Given the description of an element on the screen output the (x, y) to click on. 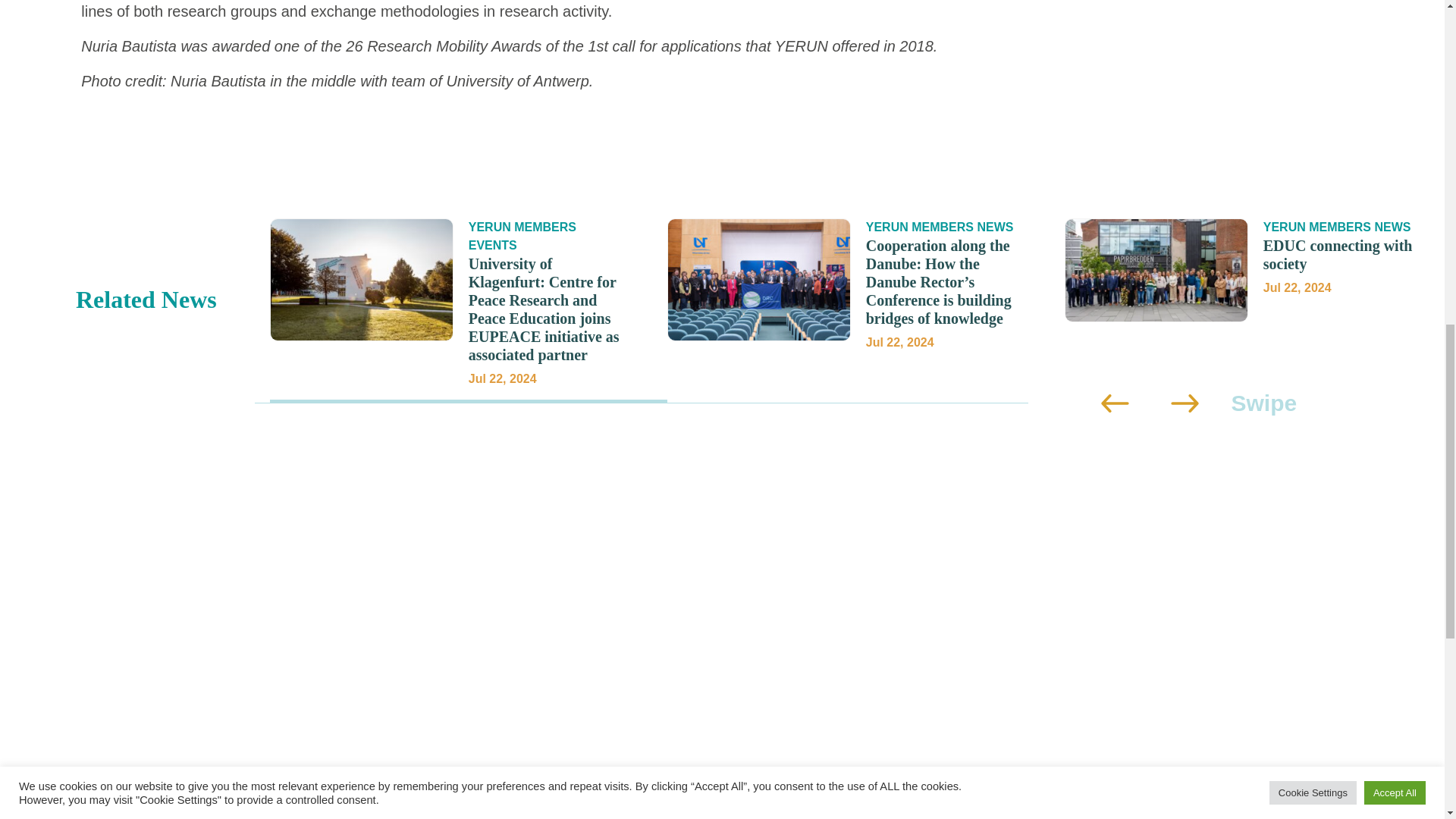
Page 1 (1247, 270)
Page 2 (559, 46)
